Given the description of an element on the screen output the (x, y) to click on. 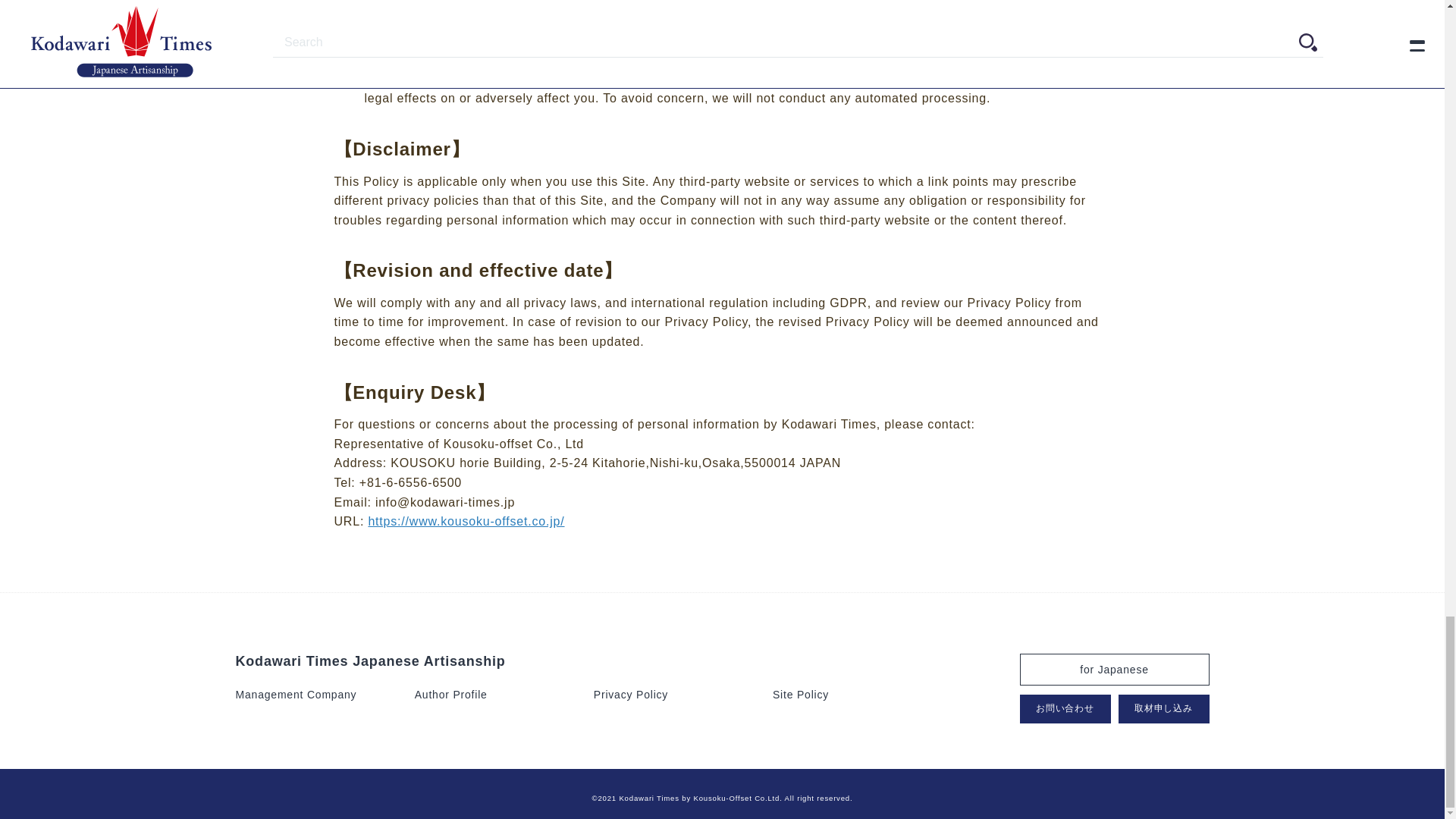
Privacy Policy (631, 694)
Author Profile (450, 694)
Management Company (295, 694)
